Given the description of an element on the screen output the (x, y) to click on. 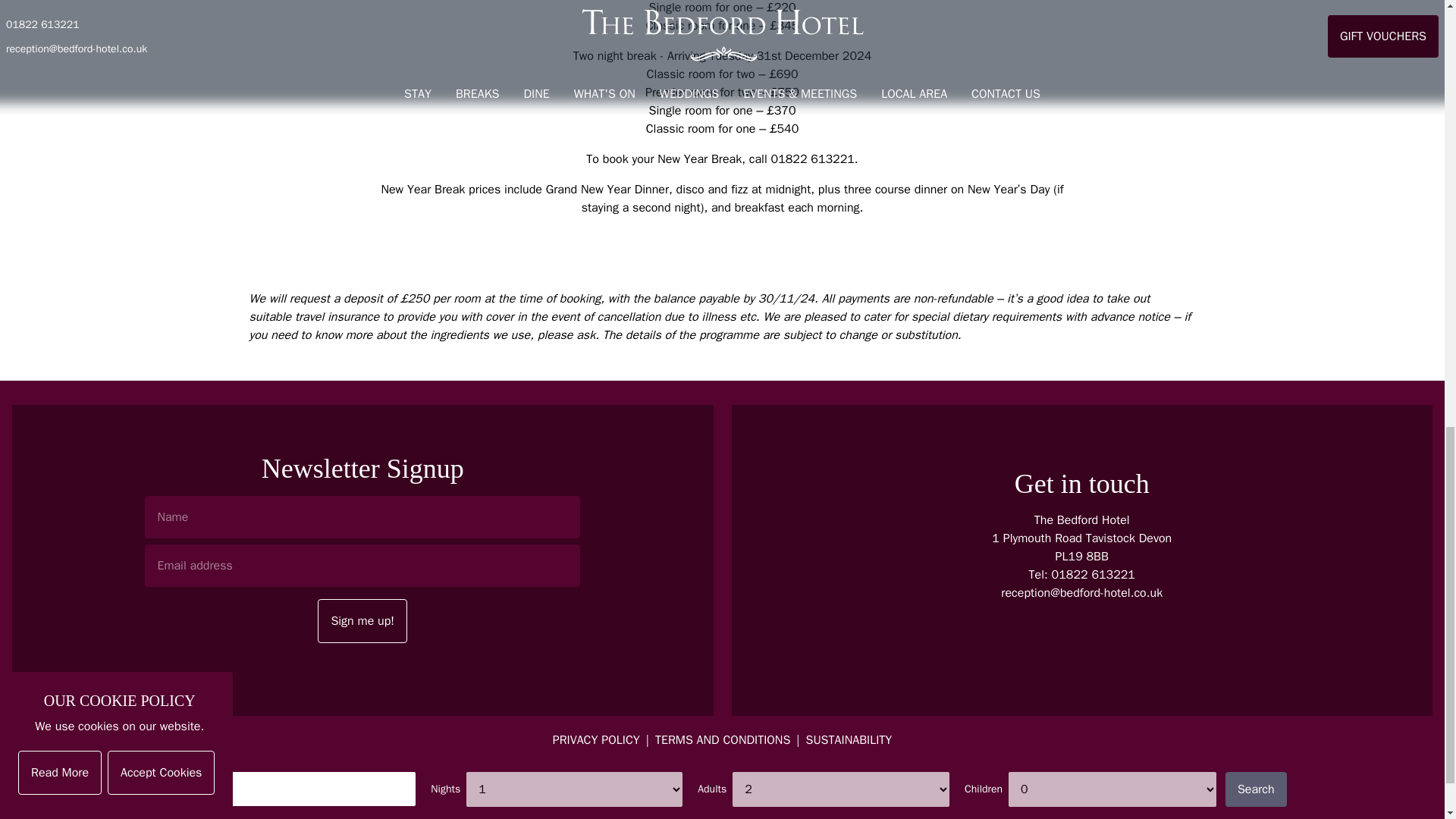
Clockwork Marketing (770, 786)
Call us (1093, 574)
Email us (1081, 592)
